Given the description of an element on the screen output the (x, y) to click on. 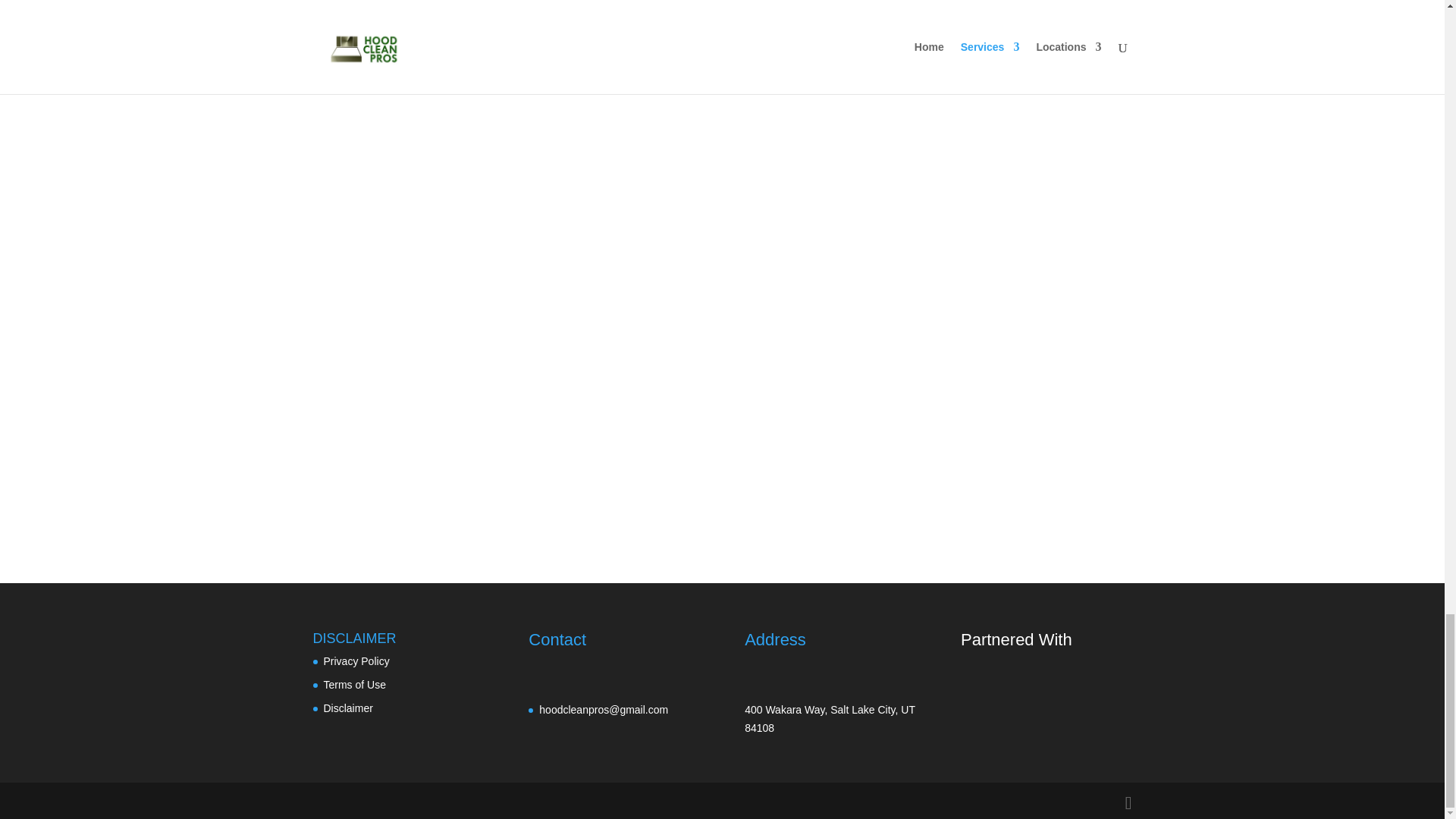
Privacy Policy (355, 661)
wpforms-submit (432, 489)
Terms of Use (354, 684)
Disclaimer (347, 707)
